Given the description of an element on the screen output the (x, y) to click on. 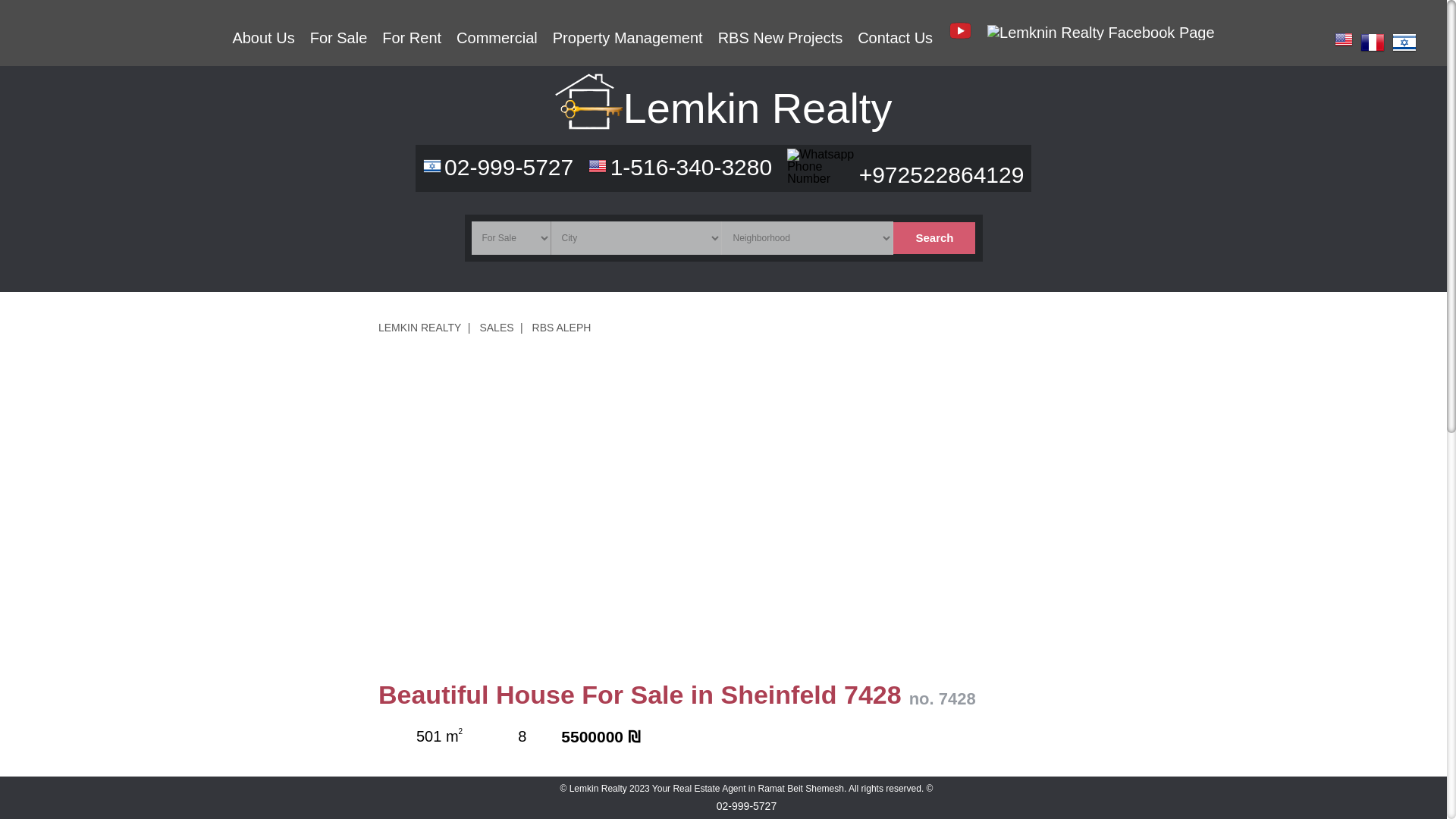
View Website in Hebrew (1403, 42)
Contact Us (895, 37)
Lemknin Realty Facebook Page (1100, 32)
Israel Phone Number (432, 166)
Commercial (497, 37)
For Sale (339, 37)
Lemkin Realty Facebook Page (1100, 31)
02-999-5727 (508, 166)
RBS ALEPH (561, 327)
Lemknin Realty Youtube Channel (959, 37)
